Given the description of an element on the screen output the (x, y) to click on. 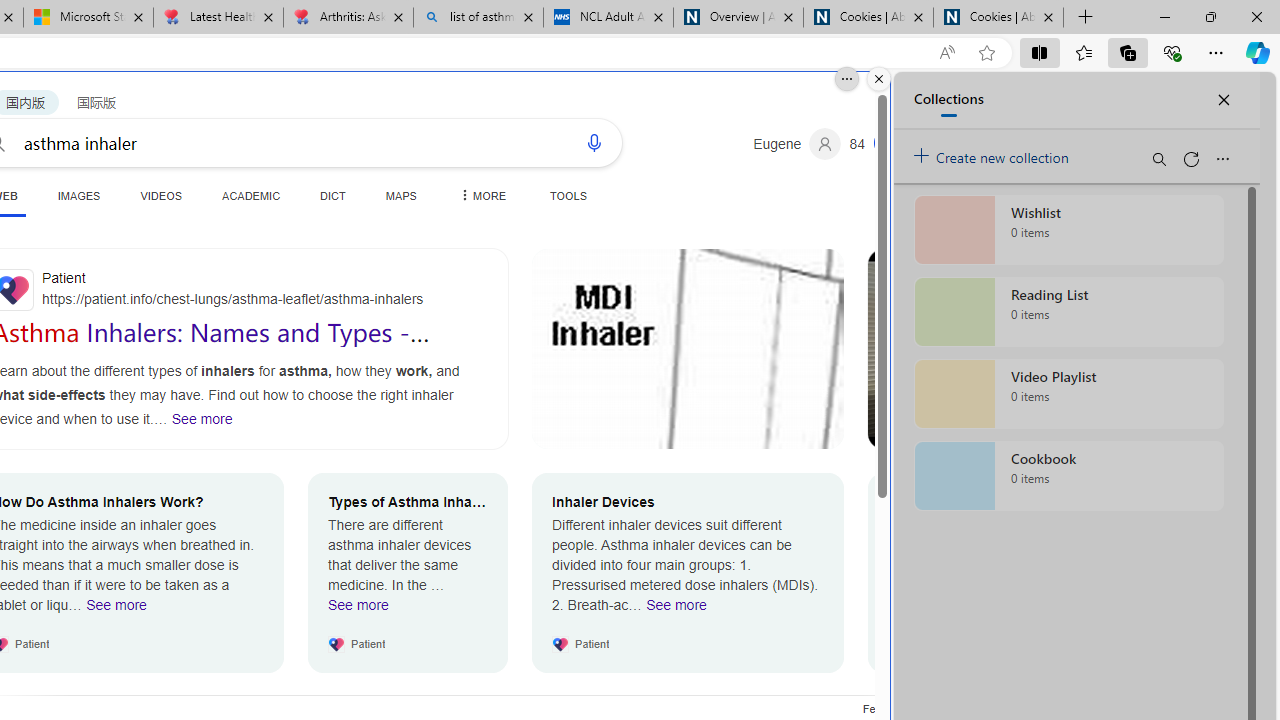
list of asthma inhalers uk - Search (477, 17)
Eugene (797, 143)
